Given the description of an element on the screen output the (x, y) to click on. 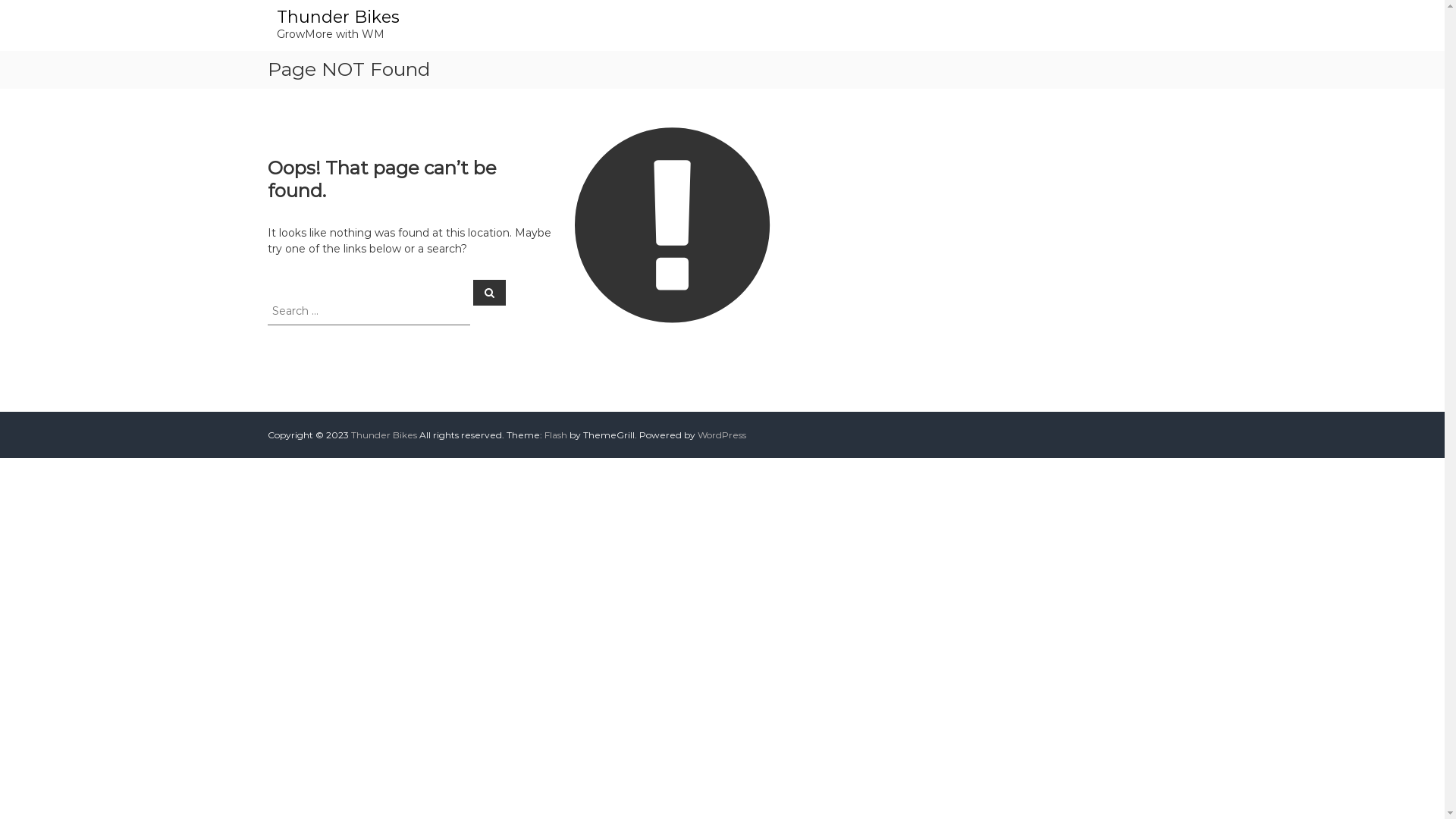
Thunder Bikes Element type: text (337, 16)
Flash Element type: text (555, 434)
WordPress Element type: text (721, 434)
Thunder Bikes Element type: text (383, 434)
Search Element type: text (489, 291)
